Given the description of an element on the screen output the (x, y) to click on. 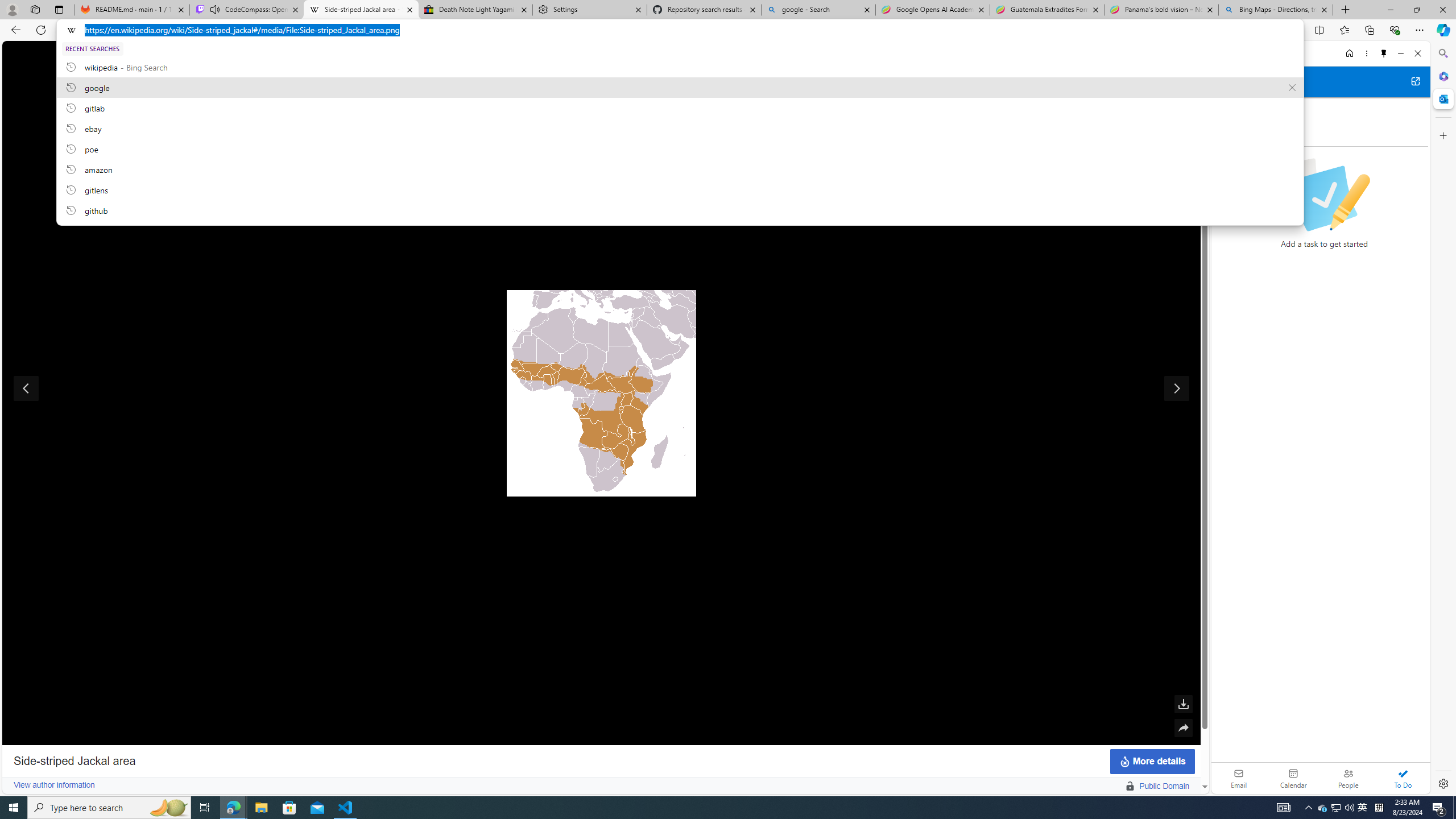
Enable or disable Media Viewer (1183, 105)
Show next image (1176, 388)
Add a task (1334, 133)
ebay, recent searches from history (679, 127)
Show previous image (26, 388)
Mute tab (215, 8)
Remove suggestion (1291, 87)
My Day (1236, 109)
poe, recent searches from history (679, 148)
People (1347, 777)
